Given the description of an element on the screen output the (x, y) to click on. 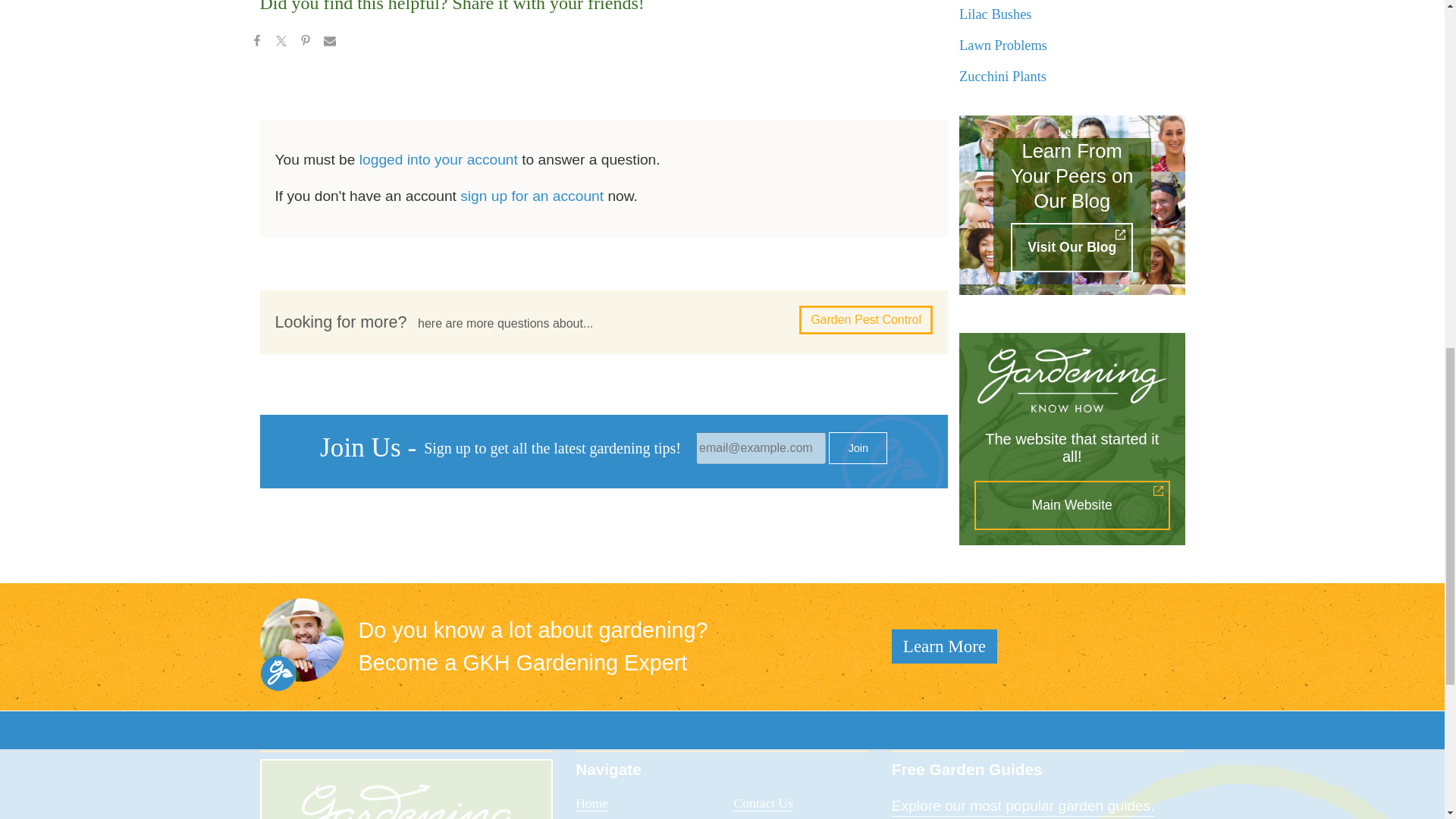
Share on Twitter (279, 43)
Share via Email (328, 43)
Share on Facebook (255, 43)
Garden Pest Control (866, 319)
Share on Pinterest (304, 43)
sign up for an account (532, 195)
logged into your account (438, 159)
Join (857, 448)
